Given the description of an element on the screen output the (x, y) to click on. 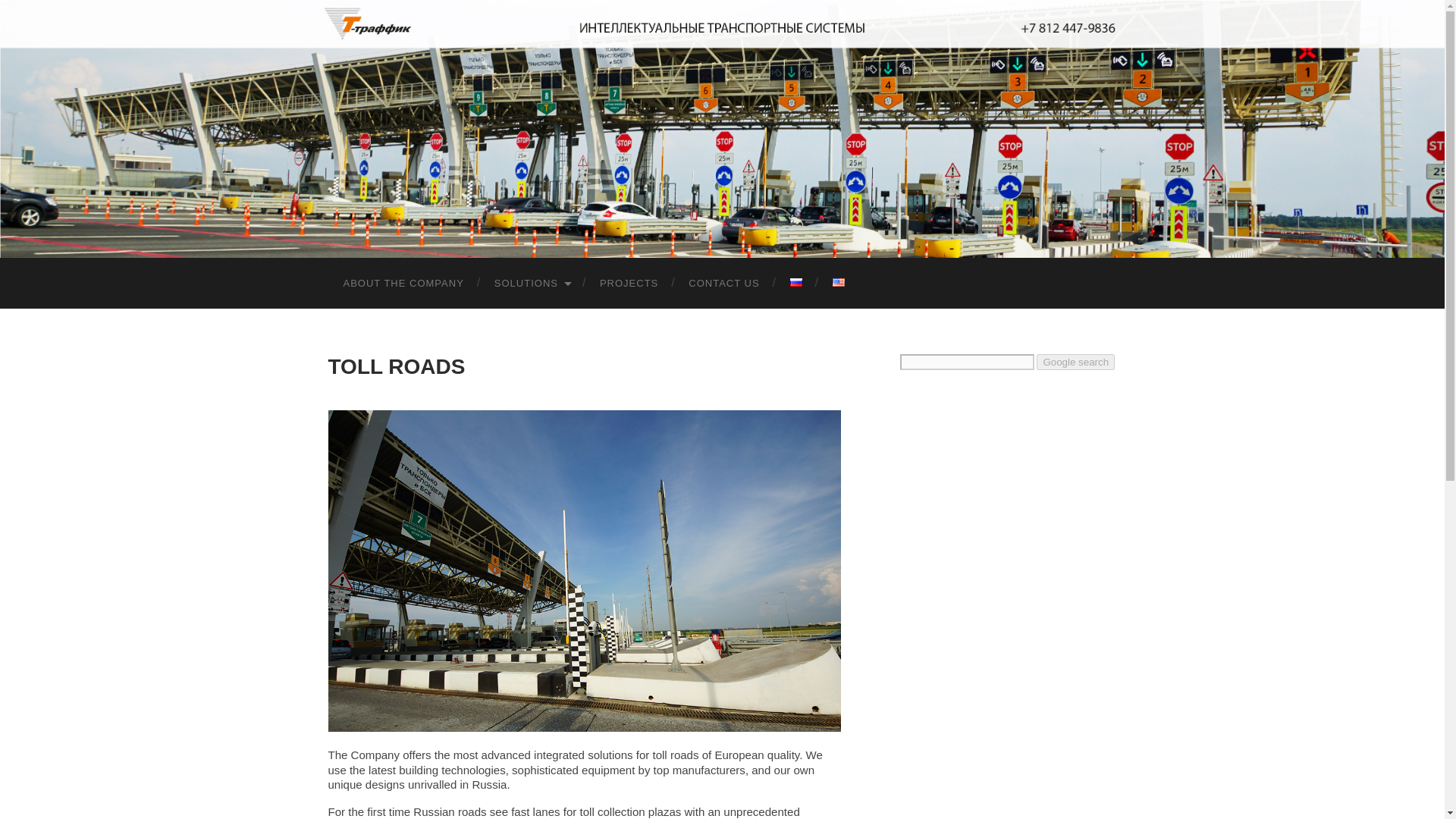
ABOUT THE COMPANY (403, 282)
Google search (1075, 361)
English (838, 282)
PROJECTS (628, 282)
CONTACT US (723, 282)
Google search (1075, 361)
SOLUTIONS (532, 282)
